Given the description of an element on the screen output the (x, y) to click on. 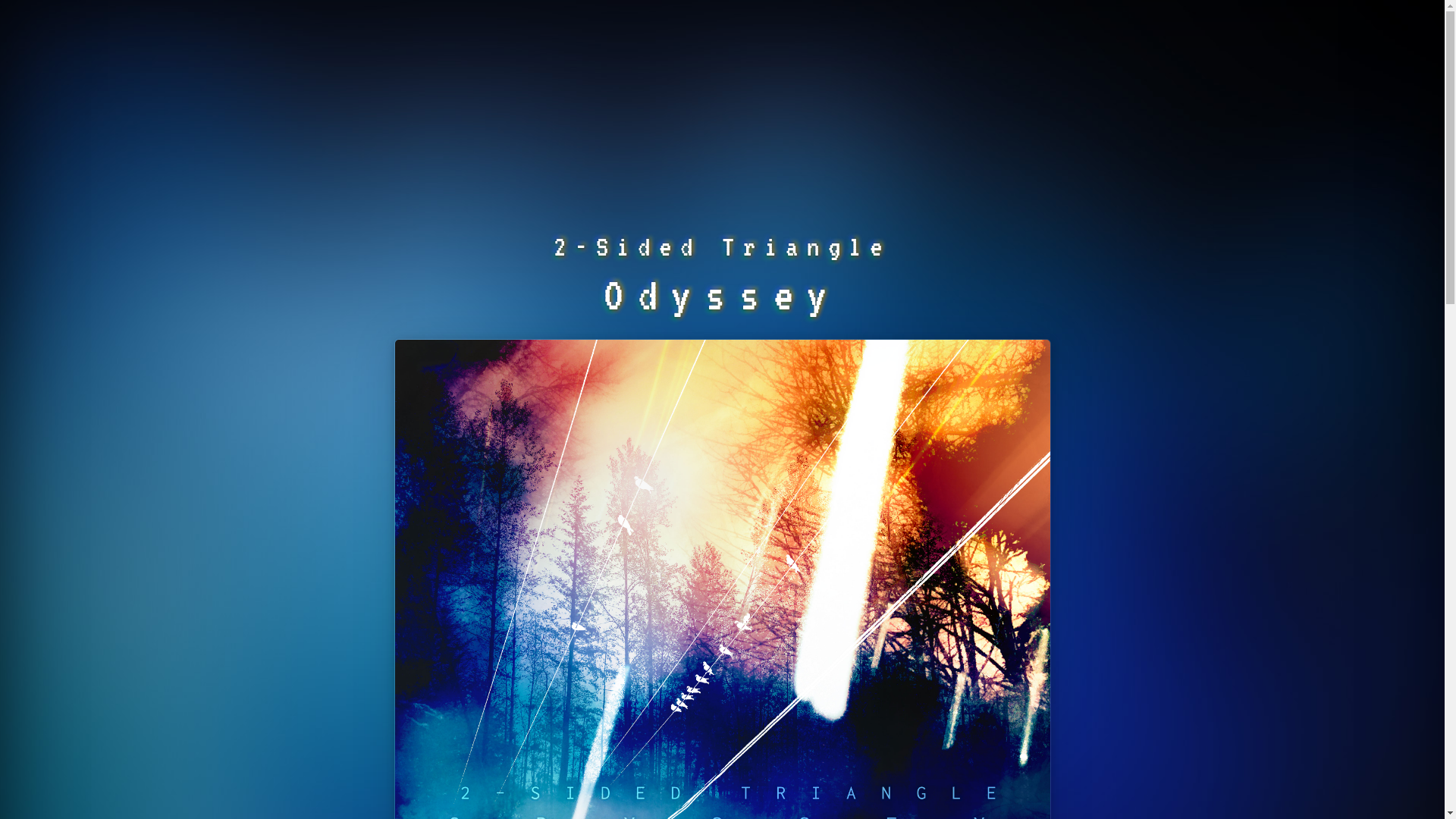
Advertisement Element type: hover (721, 106)
